Given the description of an element on the screen output the (x, y) to click on. 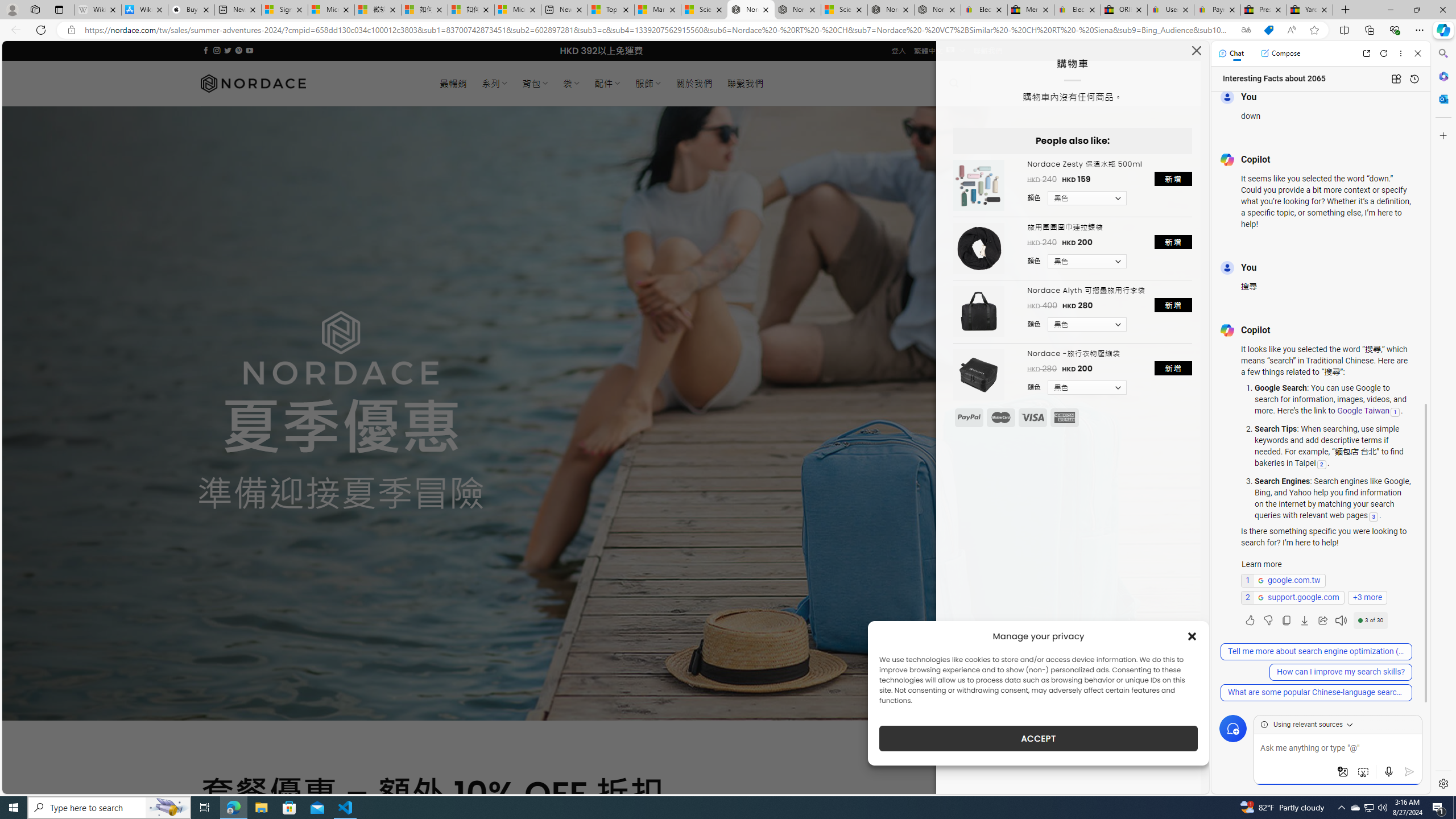
ACCEPT (1038, 738)
Follow on Facebook (205, 50)
Close (Esc) (1195, 53)
